Given the description of an element on the screen output the (x, y) to click on. 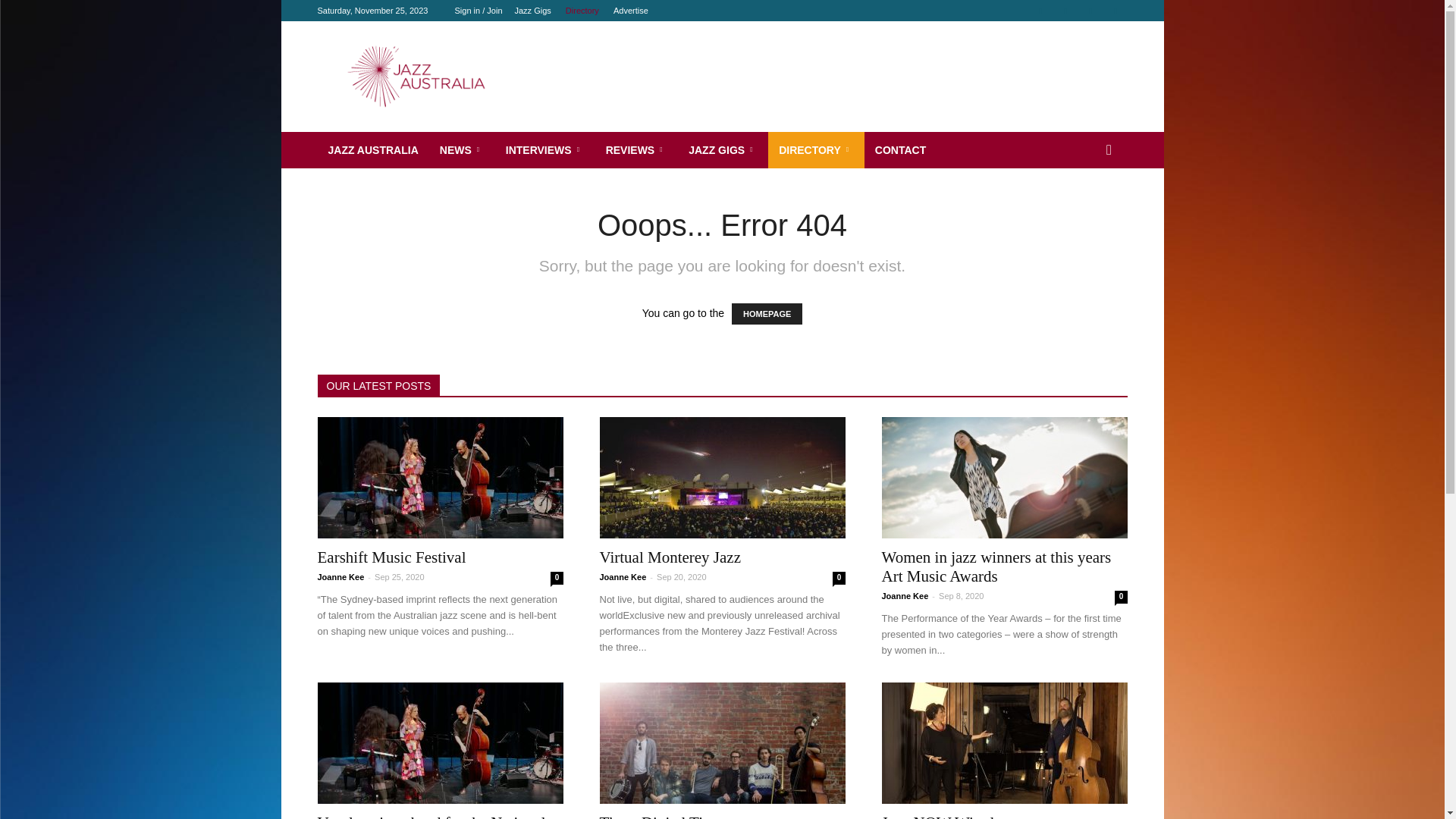
Women in jazz winners at this years Art Music Awards Element type: text (995, 566)
Twitter Element type: hover (1115, 10)
These Digital Times Element type: hover (721, 742)
Jazz:NOW Wired Element type: hover (1003, 742)
Virtual Monterey Jazz Element type: hover (721, 477)
Earshift Music Festival Element type: hover (439, 477)
REVIEWS Element type: text (636, 149)
Joanne Kee Element type: text (622, 576)
Advertise Element type: text (630, 10)
JAZZ GIGS Element type: text (722, 149)
Facebook Element type: hover (1040, 10)
Joanne Kee Element type: text (340, 576)
Joanne Kee Element type: text (904, 595)
HOMEPAGE Element type: text (766, 313)
Sign in / Join Element type: text (478, 10)
INTERVIEWS Element type: text (545, 149)
Directory Element type: text (582, 10)
Google+ Element type: hover (1065, 10)
Vocals going ahead for the National Jazz Awards Element type: hover (439, 742)
Jazz Gigs Element type: text (532, 10)
Earshift Music Festival Element type: text (390, 557)
Soundcloud Element type: hover (1090, 10)
Women in jazz winners at this years Art Music Awards Element type: hover (1003, 477)
CONTACT Element type: text (900, 149)
0 Element type: text (1120, 596)
Jazz Australia Logo Element type: hover (446, 76)
0 Element type: text (838, 577)
DIRECTORY Element type: text (816, 149)
JAZZ AUSTRALIA Element type: text (372, 149)
0 Element type: text (556, 577)
Virtual Monterey Jazz Element type: text (669, 557)
NEWS Element type: text (462, 149)
